Given the description of an element on the screen output the (x, y) to click on. 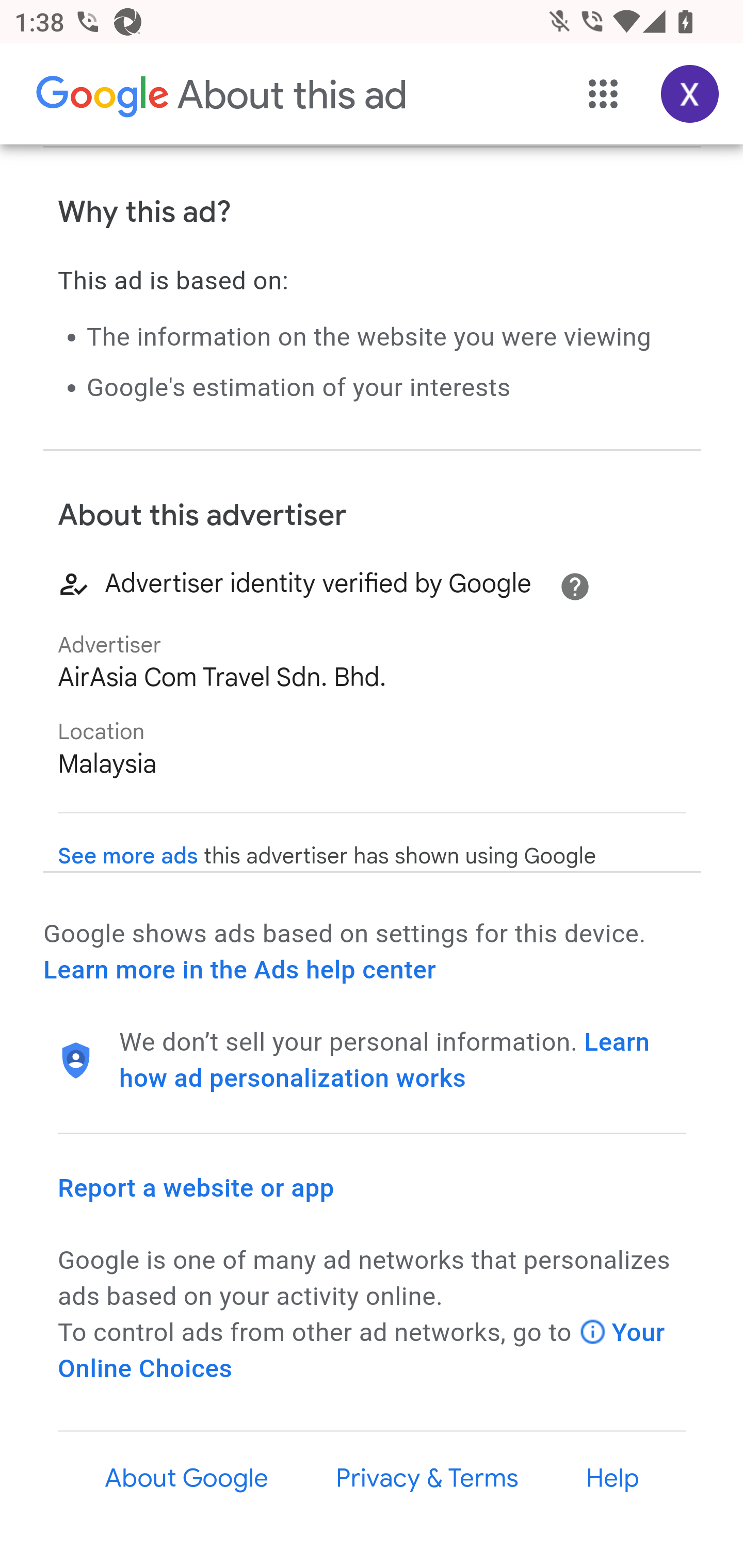
Report ad (opens in new tab) Report ad (126, 77)
Google apps (603, 94)
Google Account: Xiaoran (zxrappiumtest@gmail.com) (690, 94)
See more ads (opens in new tab) See more ads (127, 856)
Learn more in the Ads help center (239, 970)
Learn how ad personalization works (384, 1060)
Report a website or app (196, 1187)
Your Online Choices (361, 1349)
About Google (186, 1479)
Privacy & Terms (426, 1479)
Help (612, 1479)
